Given the description of an element on the screen output the (x, y) to click on. 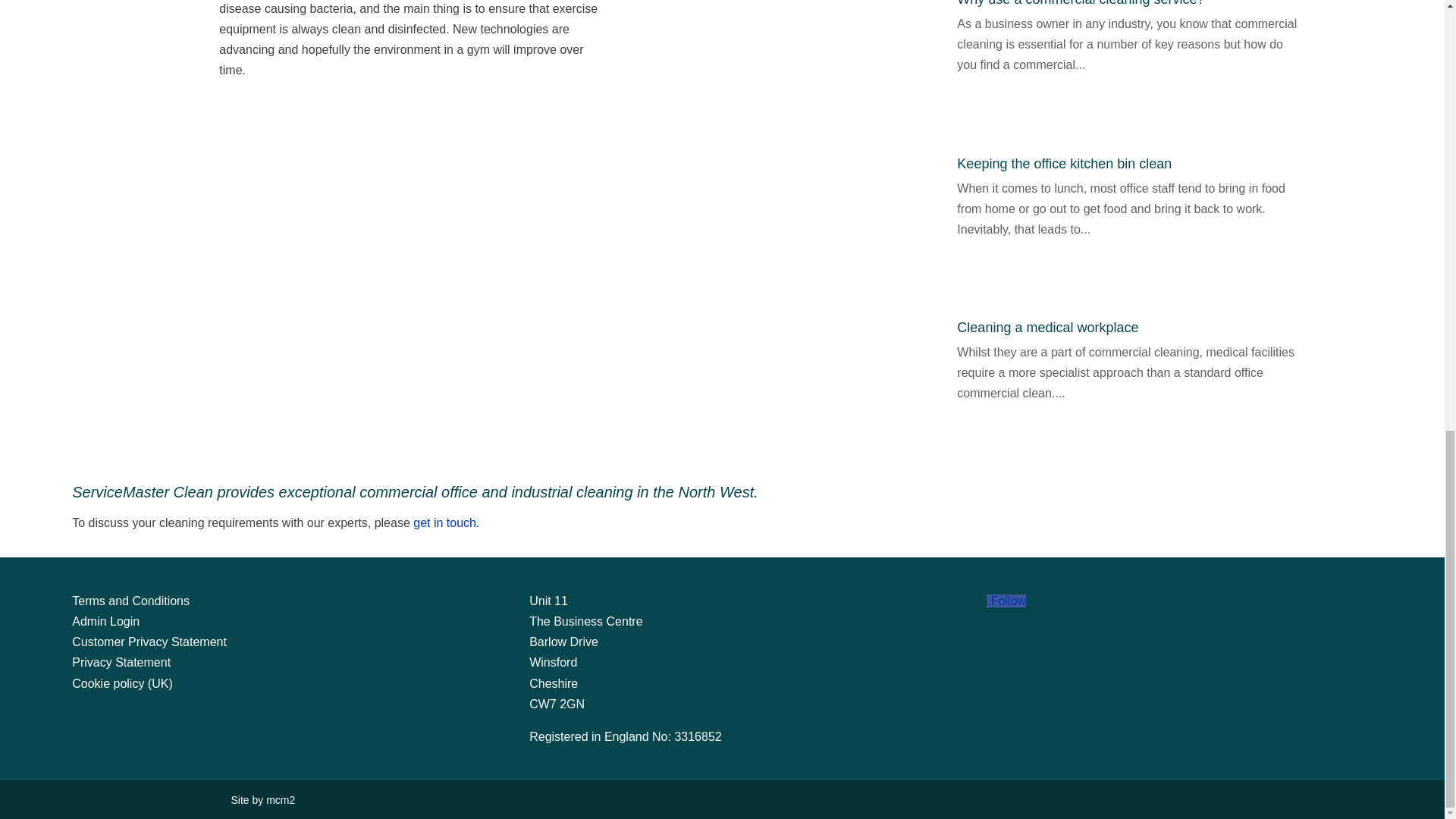
Terms and Conditions (130, 600)
get in touch. (445, 522)
Site by mcm2 (262, 799)
Privacy Statement (120, 662)
Follow on Facebook (1006, 600)
Admin Login (105, 621)
Follow (1006, 600)
